Given the description of an element on the screen output the (x, y) to click on. 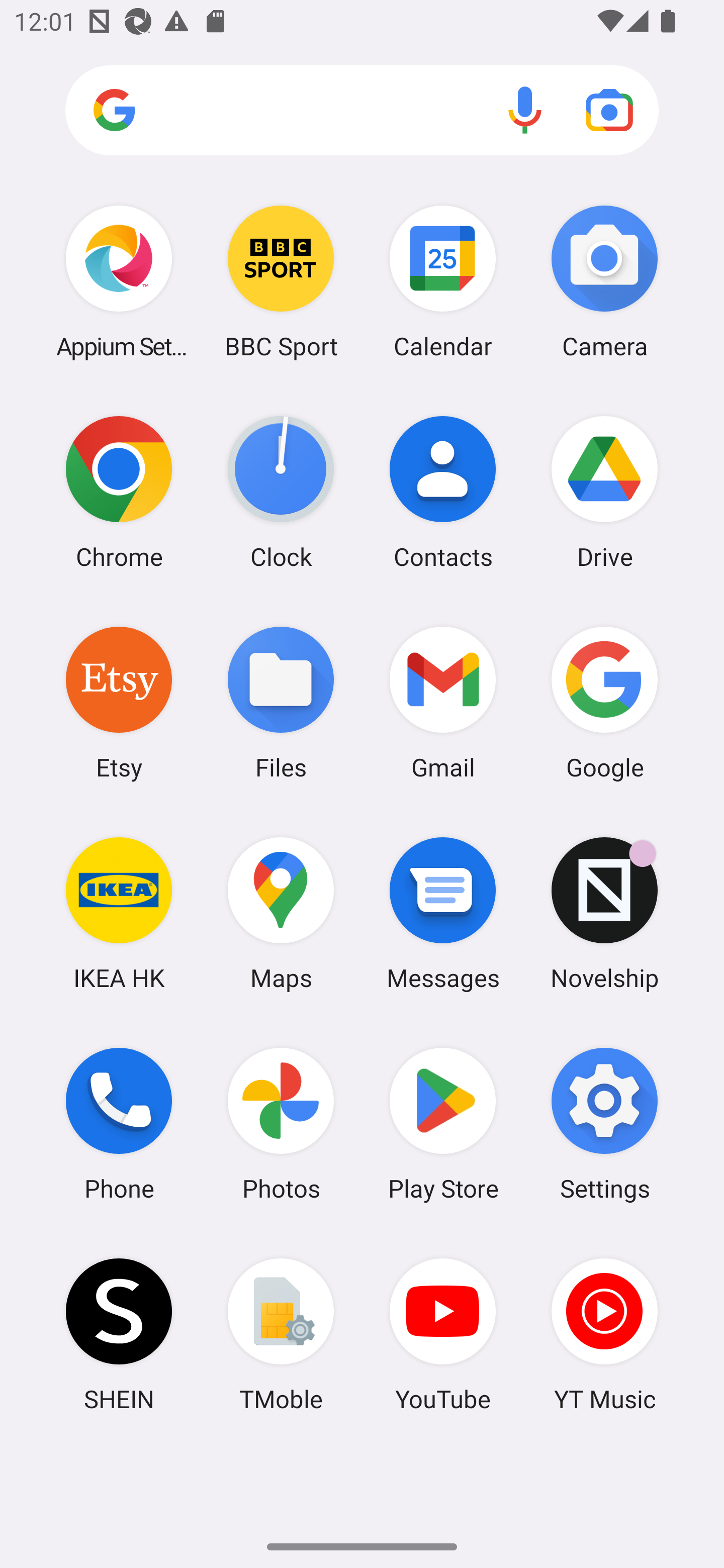
Search apps, web and more (361, 110)
Voice search (524, 109)
Google Lens (608, 109)
Appium Settings (118, 281)
BBC Sport (280, 281)
Calendar (443, 281)
Camera (604, 281)
Chrome (118, 492)
Clock (280, 492)
Contacts (443, 492)
Drive (604, 492)
Etsy (118, 702)
Files (280, 702)
Gmail (443, 702)
Google (604, 702)
IKEA HK (118, 913)
Maps (280, 913)
Messages (443, 913)
Novelship Novelship has 7 notifications (604, 913)
Phone (118, 1124)
Photos (280, 1124)
Play Store (443, 1124)
Settings (604, 1124)
SHEIN (118, 1334)
TMoble (280, 1334)
YouTube (443, 1334)
YT Music (604, 1334)
